Given the description of an element on the screen output the (x, y) to click on. 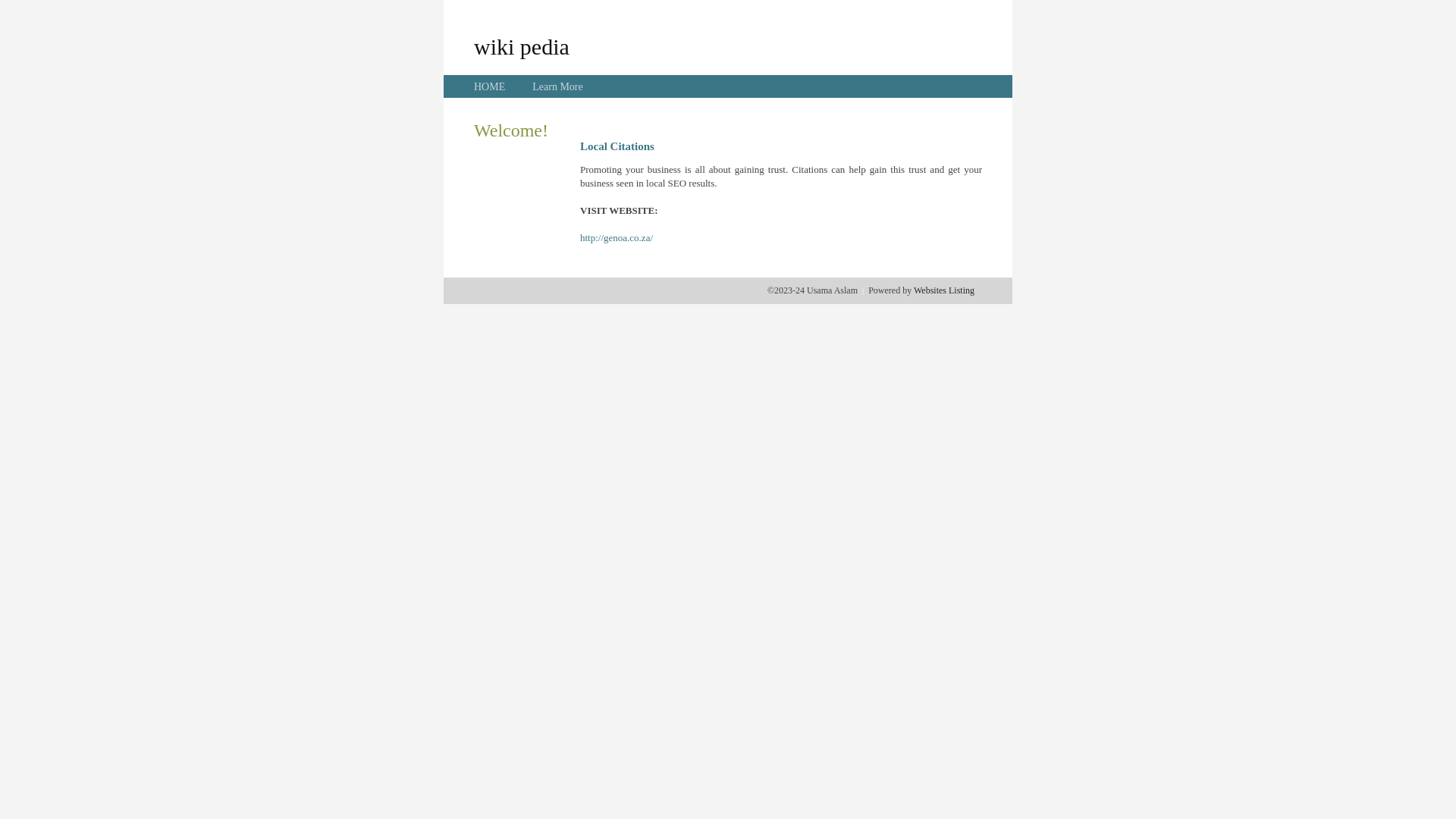
wiki pedia Element type: text (521, 46)
HOME Element type: text (489, 86)
http://genoa.co.za/ Element type: text (616, 237)
Websites Listing Element type: text (943, 290)
Learn More Element type: text (557, 86)
